Given the description of an element on the screen output the (x, y) to click on. 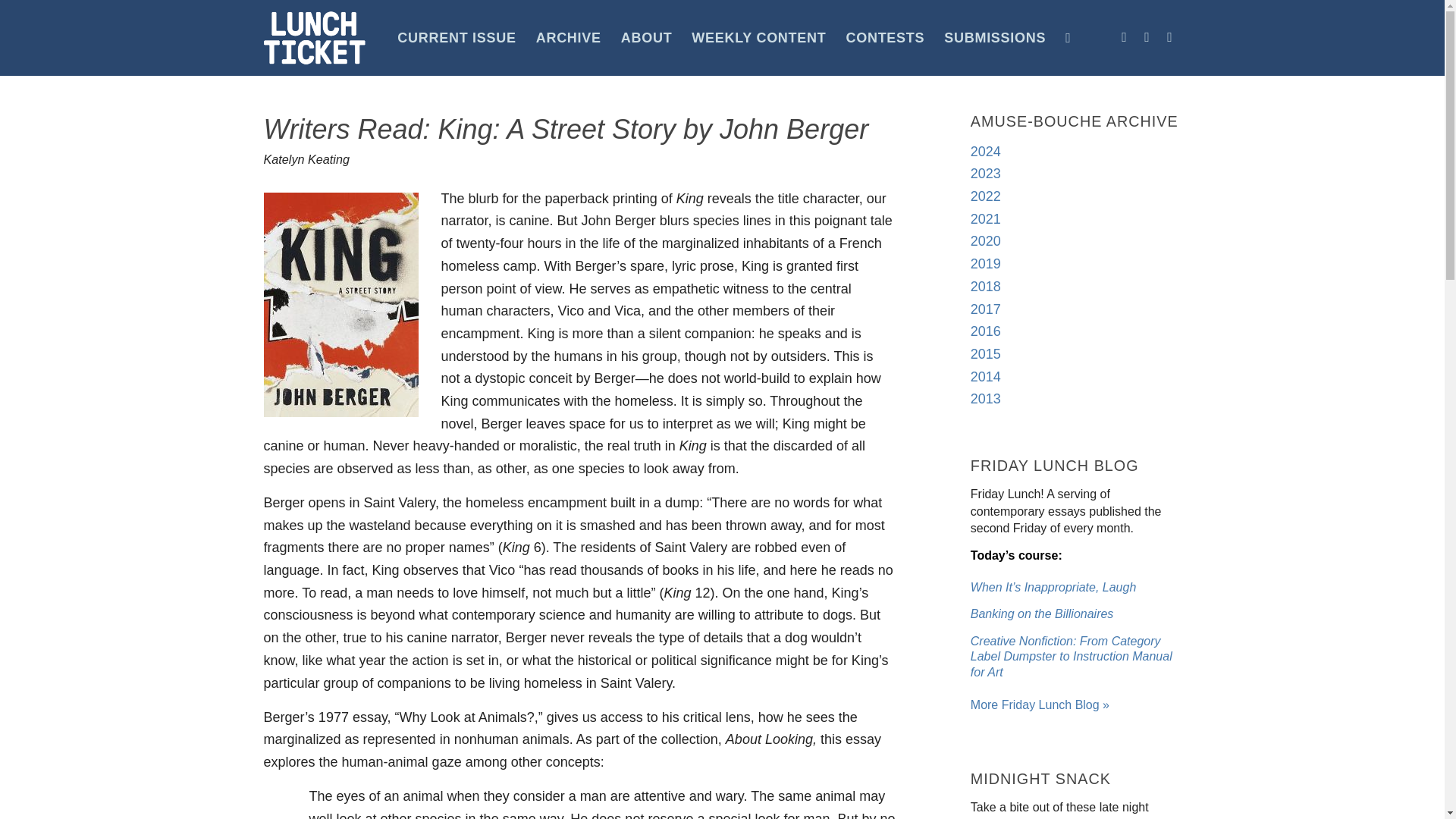
Permanent Link: Banking on the Billionaires (1042, 613)
lunch ticket logo white text-only (314, 38)
ARCHIVE (568, 38)
CURRENT ISSUE (456, 38)
Instagram (1146, 36)
Welcome to Lunch Ticket (1040, 704)
X (1169, 36)
Facebook (1124, 36)
